Given the description of an element on the screen output the (x, y) to click on. 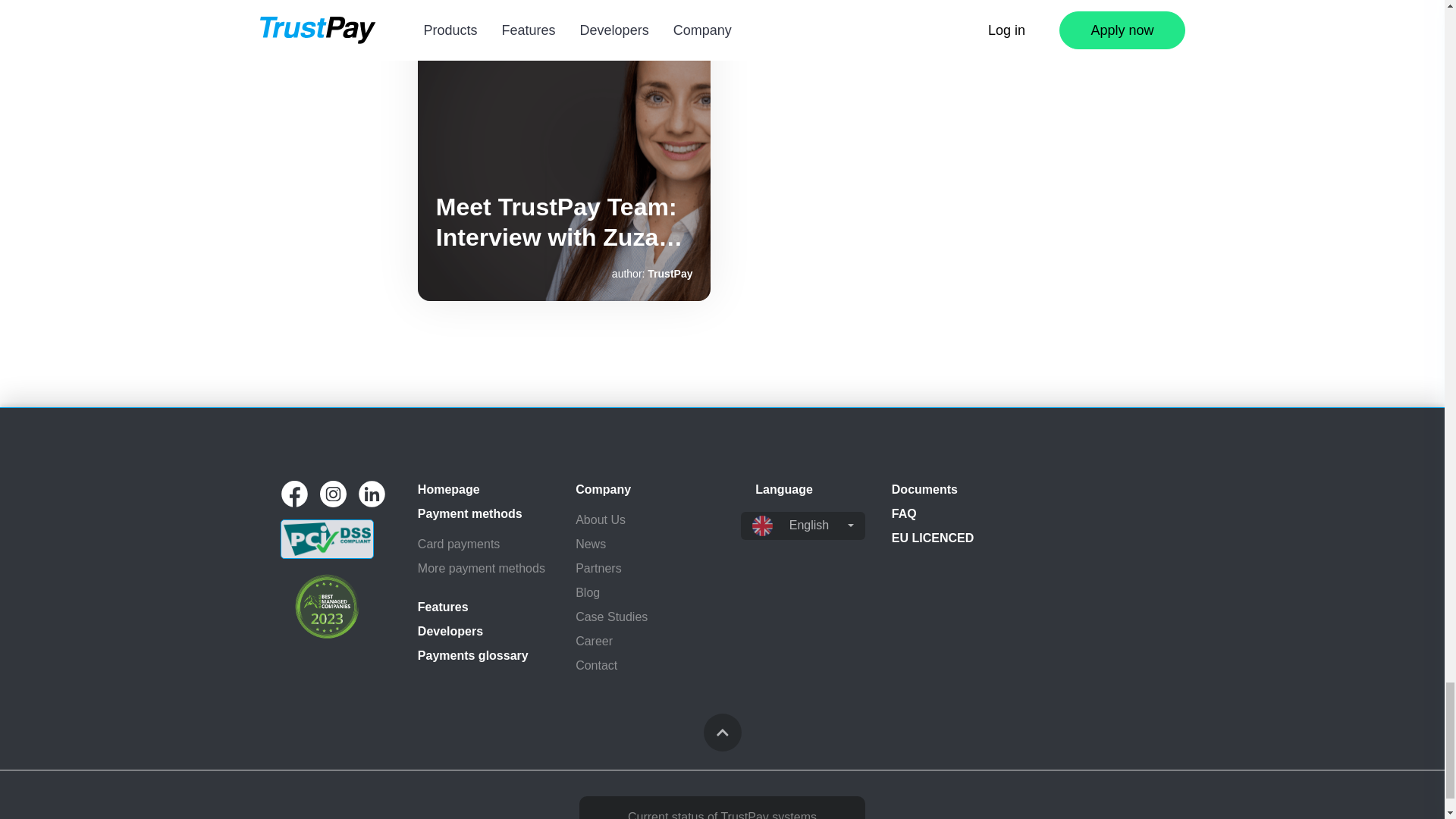
Homepage (485, 489)
Card payments (485, 544)
Features (485, 607)
More payment methods (485, 568)
